Given the description of an element on the screen output the (x, y) to click on. 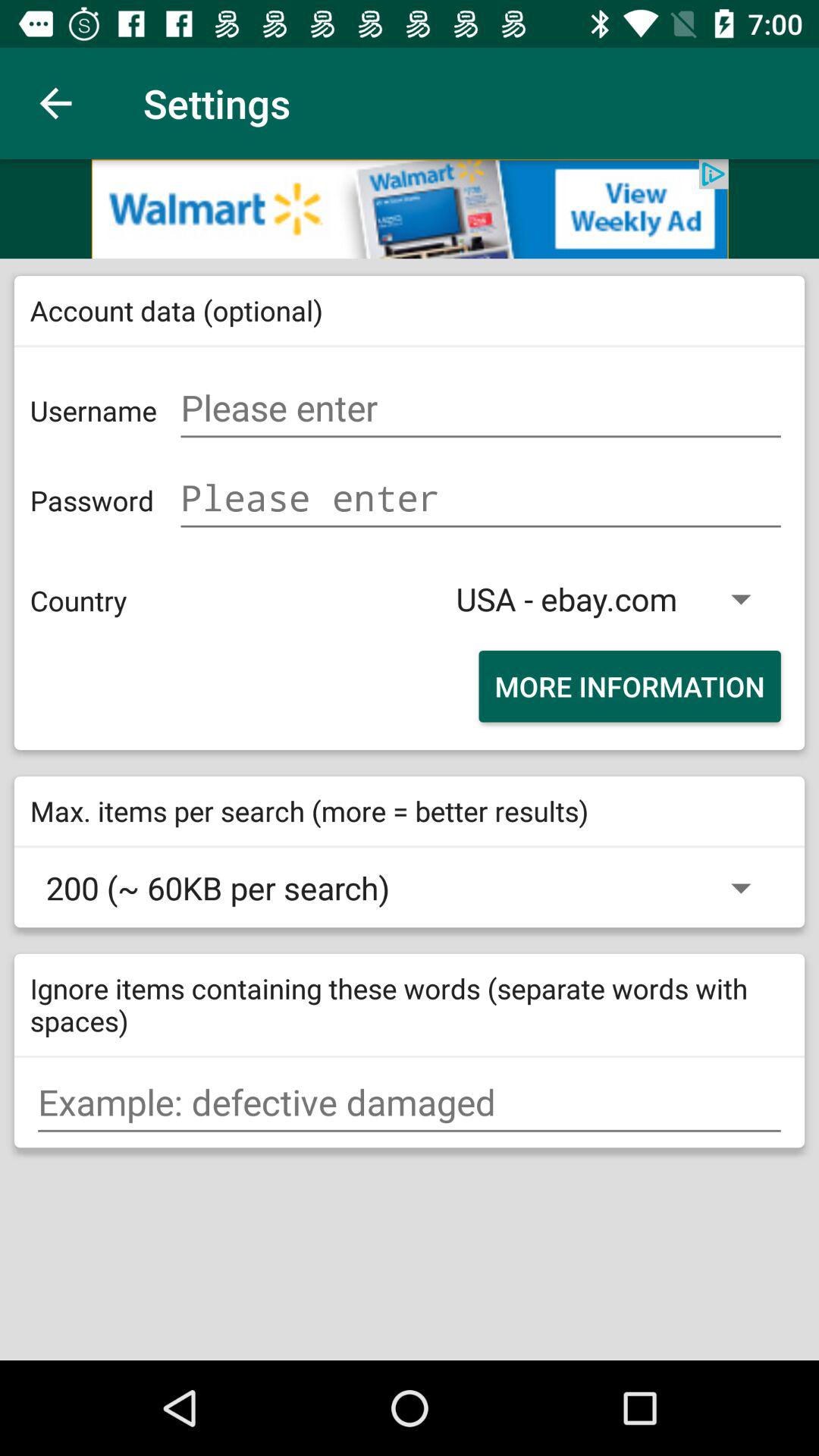
advertisement option (409, 208)
